Given the description of an element on the screen output the (x, y) to click on. 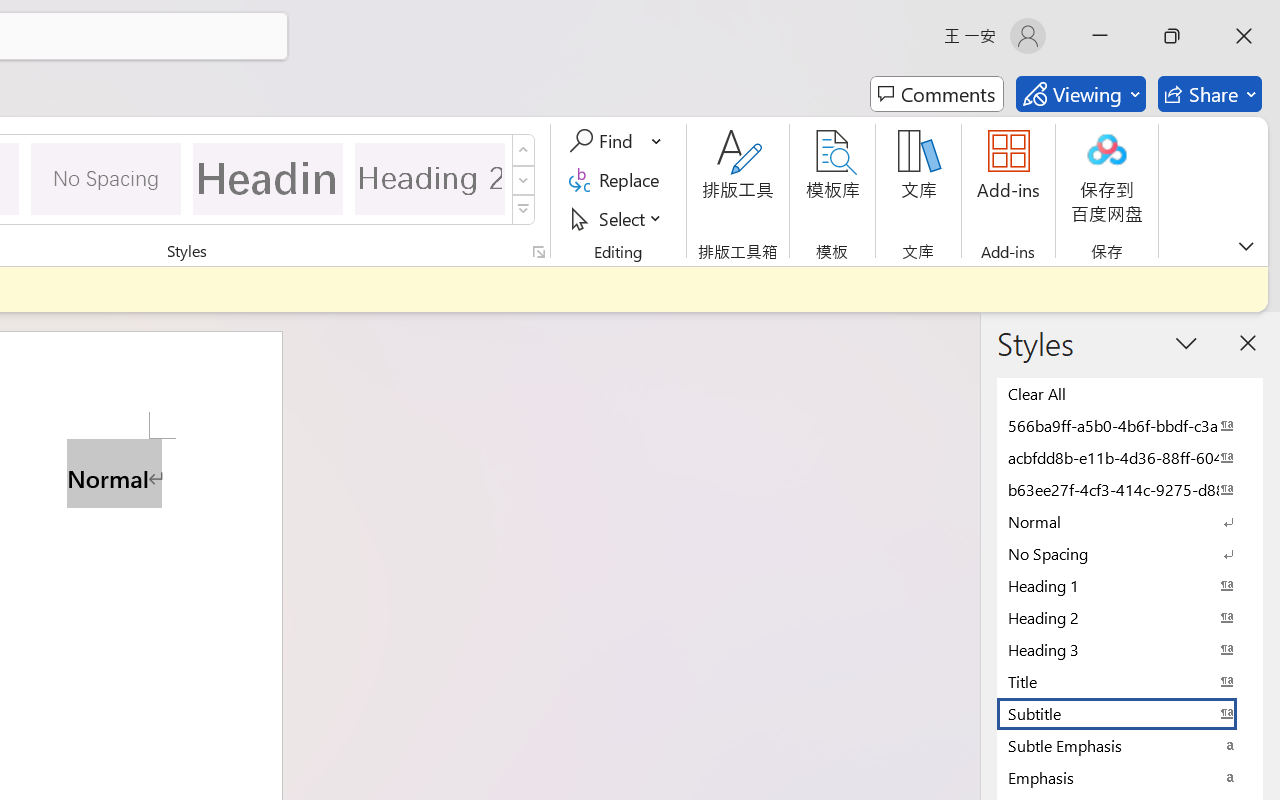
Replace... (617, 179)
No Spacing (1130, 553)
Mode (1080, 94)
